Given the description of an element on the screen output the (x, y) to click on. 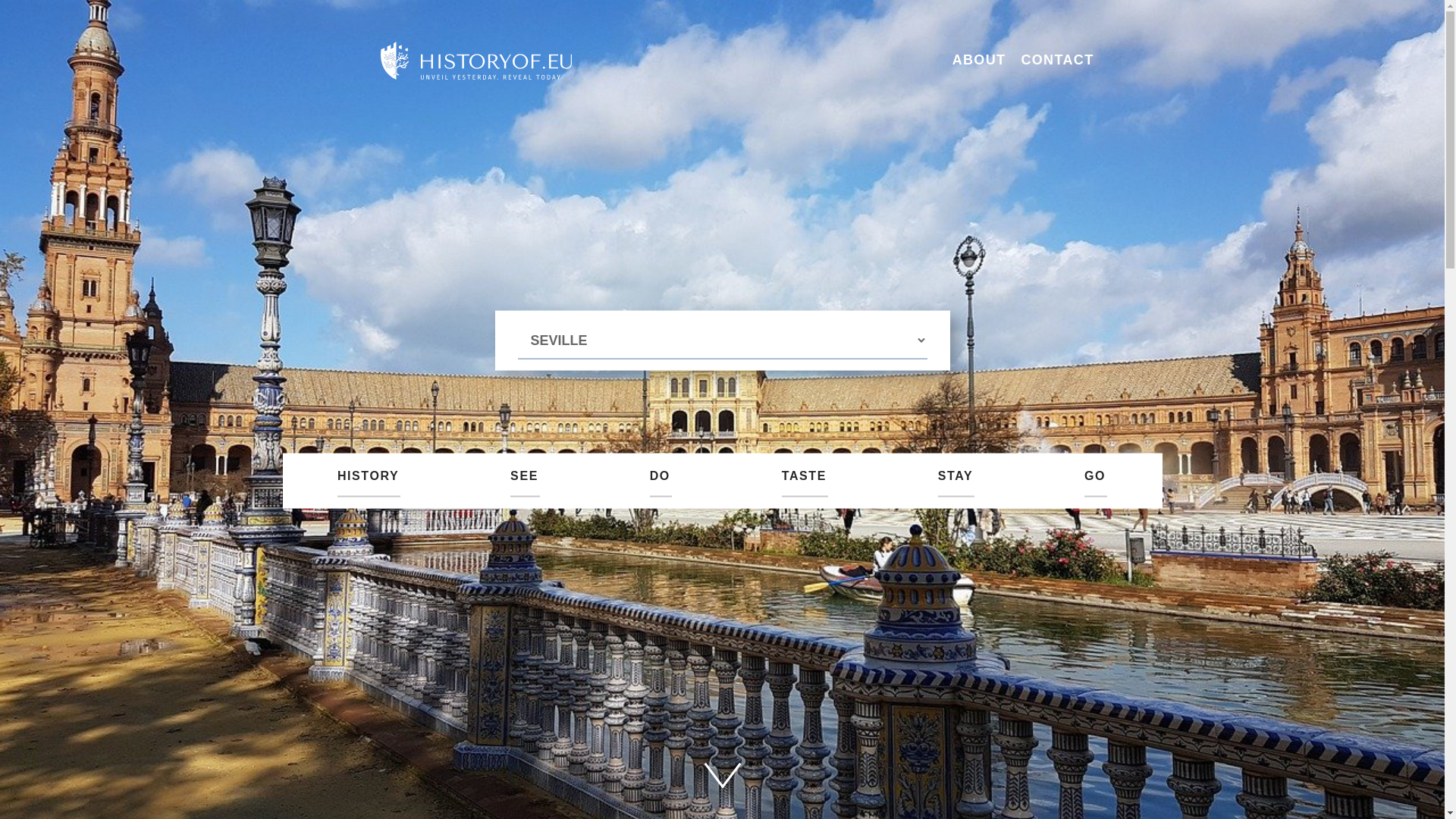
TASTE (804, 481)
SEE (524, 481)
STAY (954, 481)
ABOUT (979, 58)
CONTACT (1056, 58)
HISTORY (367, 481)
